Given the description of an element on the screen output the (x, y) to click on. 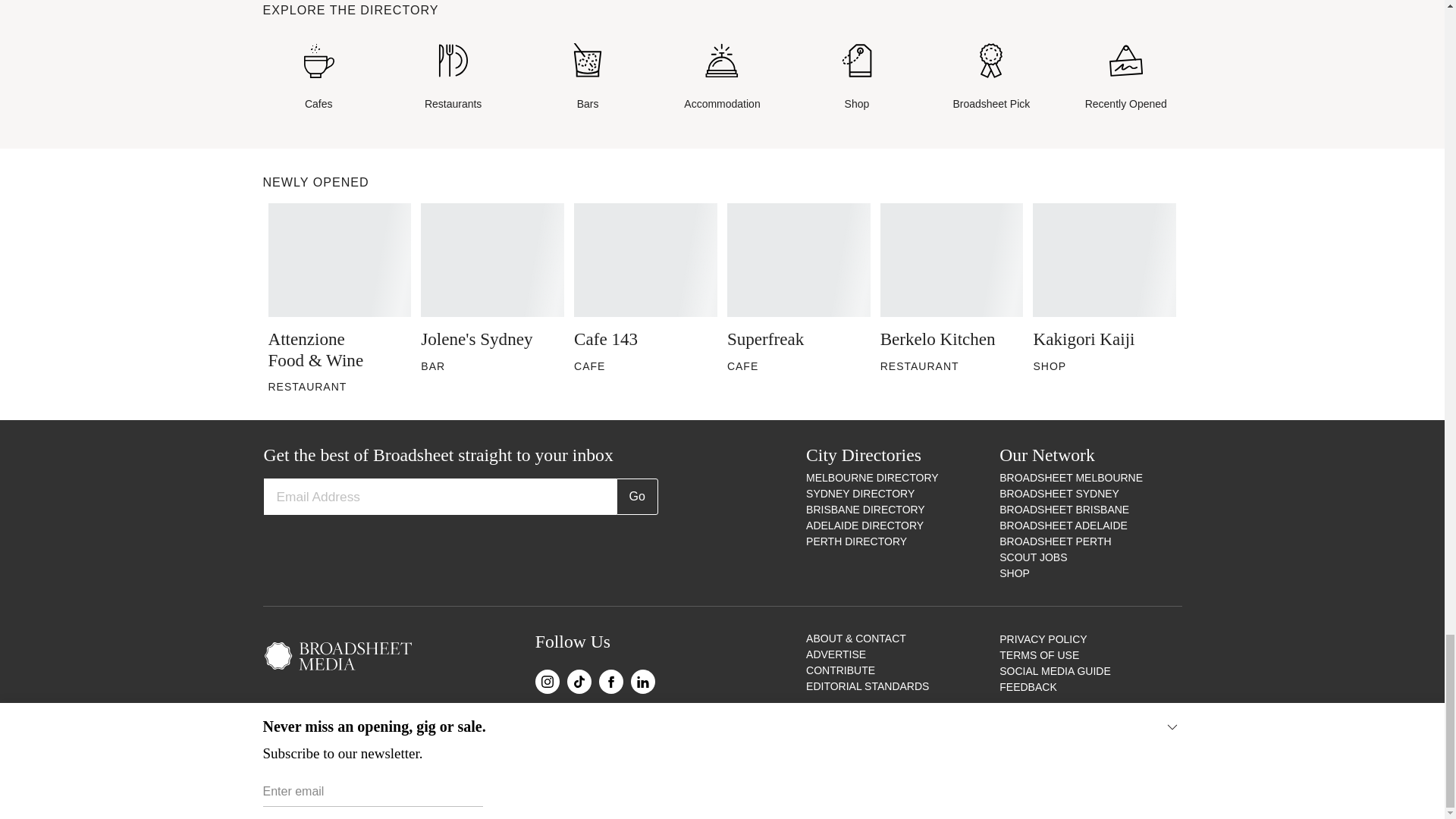
Broadsheet Pick (991, 77)
Bars (587, 77)
Shop (856, 77)
Cafes (318, 77)
Recently Opened (1125, 77)
Accommodation (721, 77)
Restaurants (452, 77)
